Given the description of an element on the screen output the (x, y) to click on. 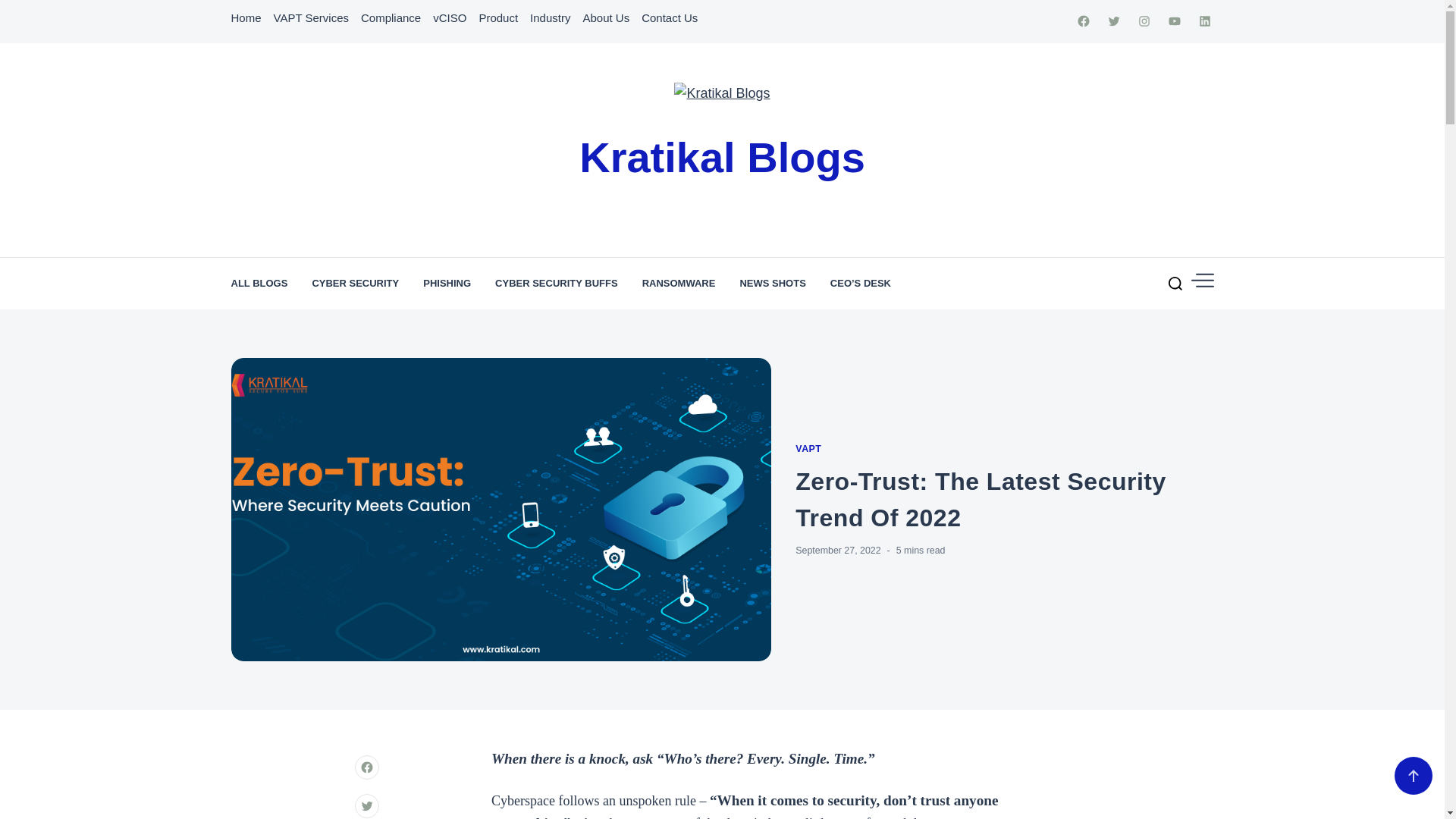
Product (498, 17)
Compliance (390, 17)
VAPT Services (311, 17)
vCISO (448, 17)
Home (245, 17)
About Us (605, 17)
Industry (549, 17)
